Given the description of an element on the screen output the (x, y) to click on. 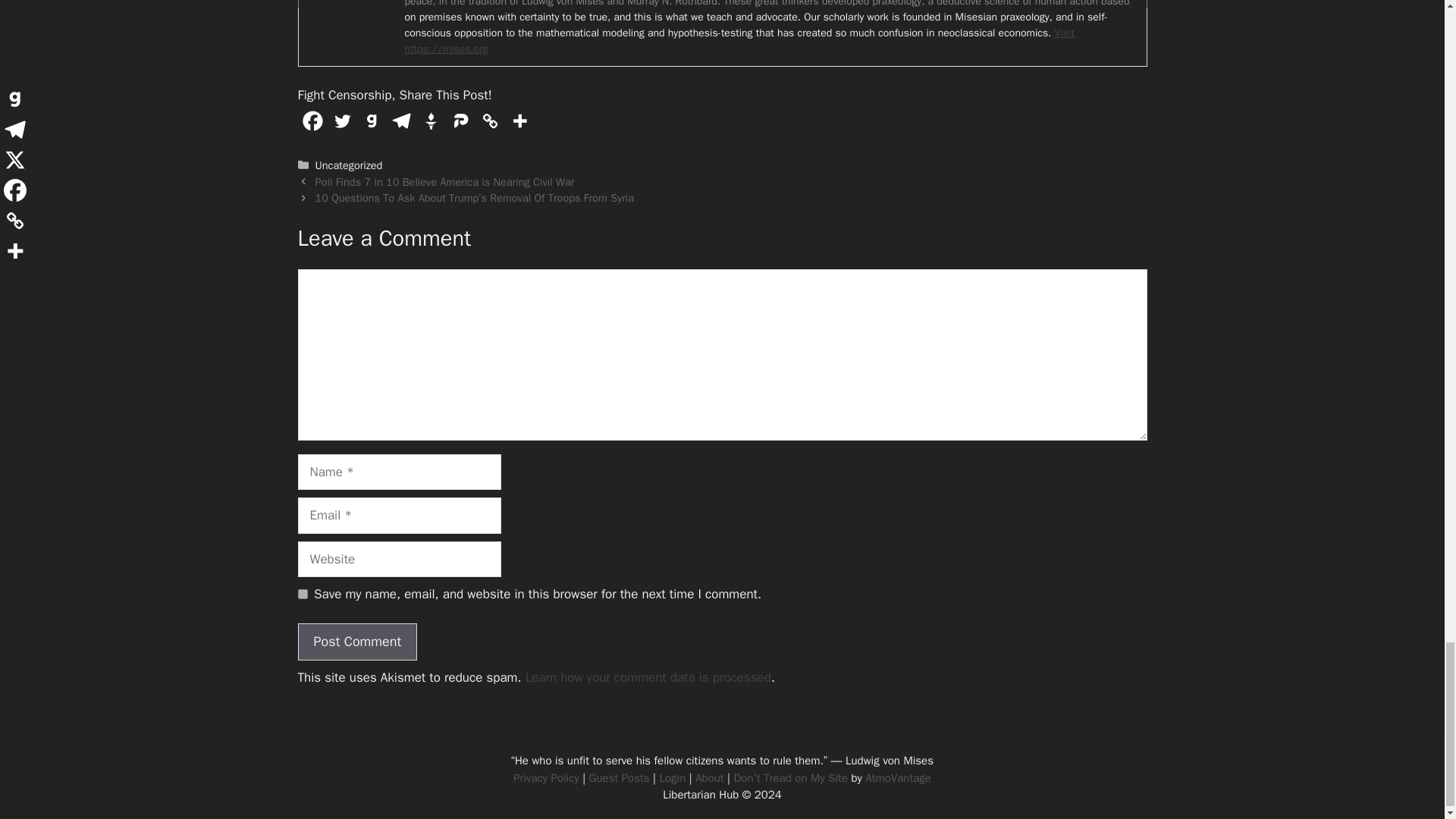
yes (302, 593)
Post Comment (356, 641)
